Given the description of an element on the screen output the (x, y) to click on. 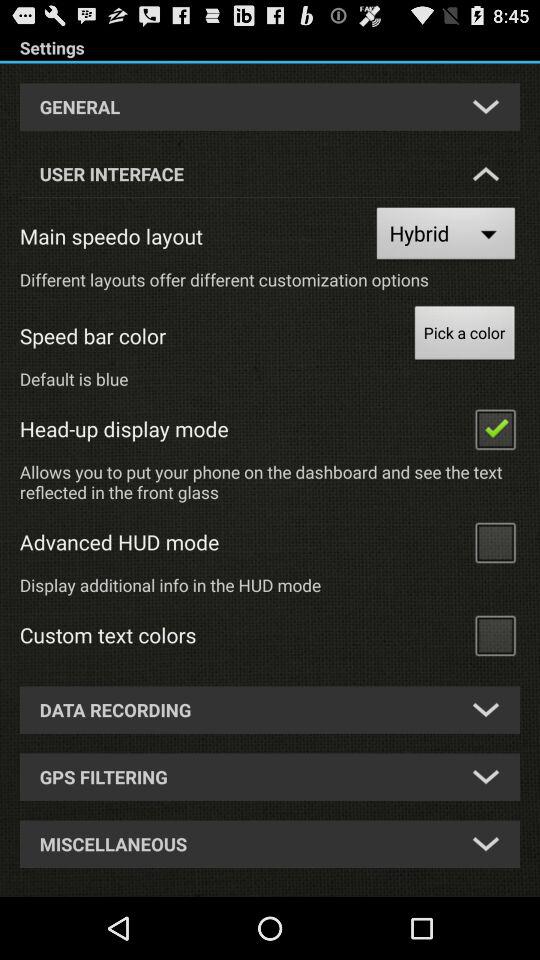
check box toggle advanced hug mode (495, 541)
